Given the description of an element on the screen output the (x, y) to click on. 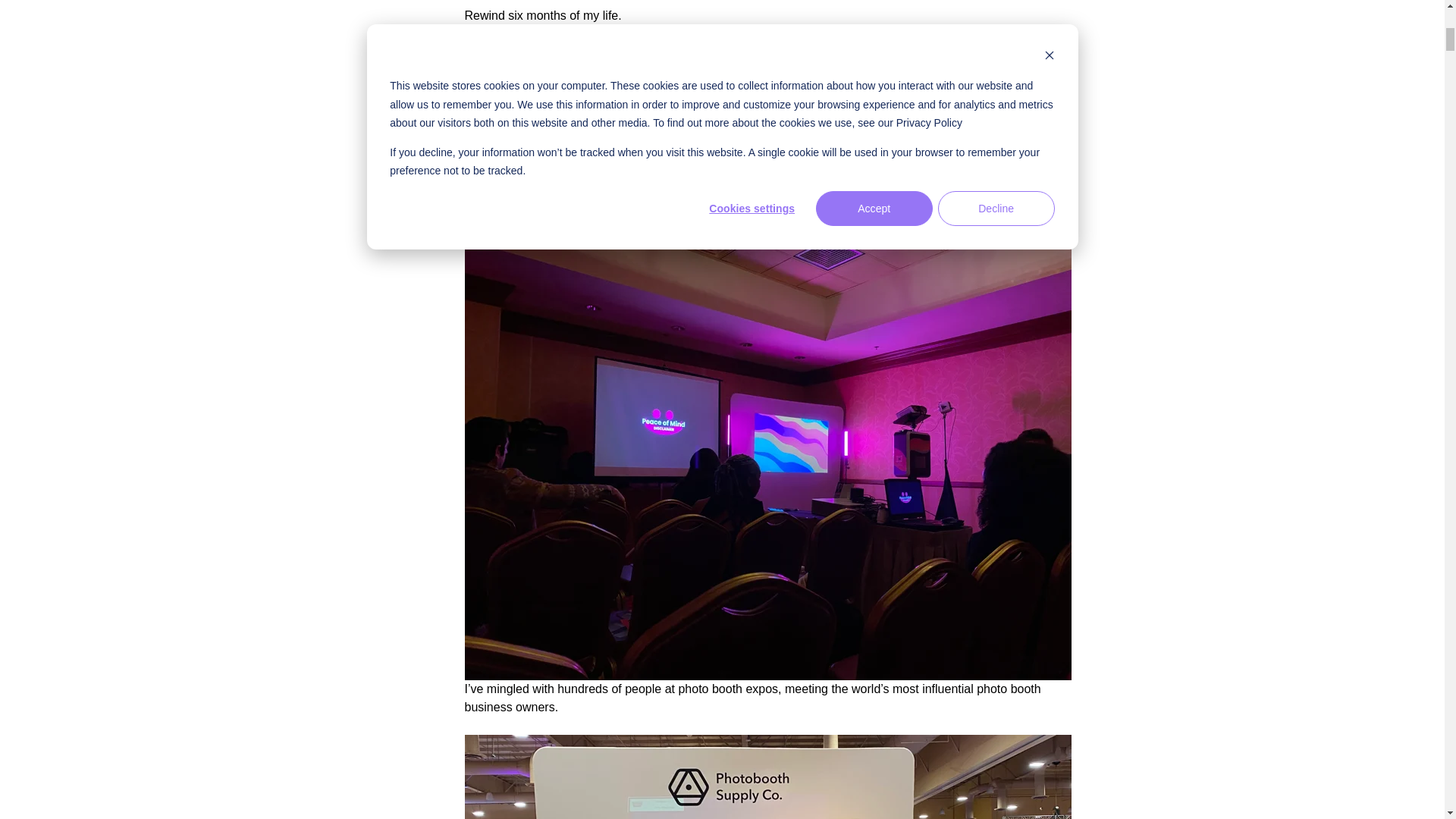
Share on LinkedIn (390, 125)
Share on Twitter (390, 74)
Share on Facebook (390, 24)
